Given the description of an element on the screen output the (x, y) to click on. 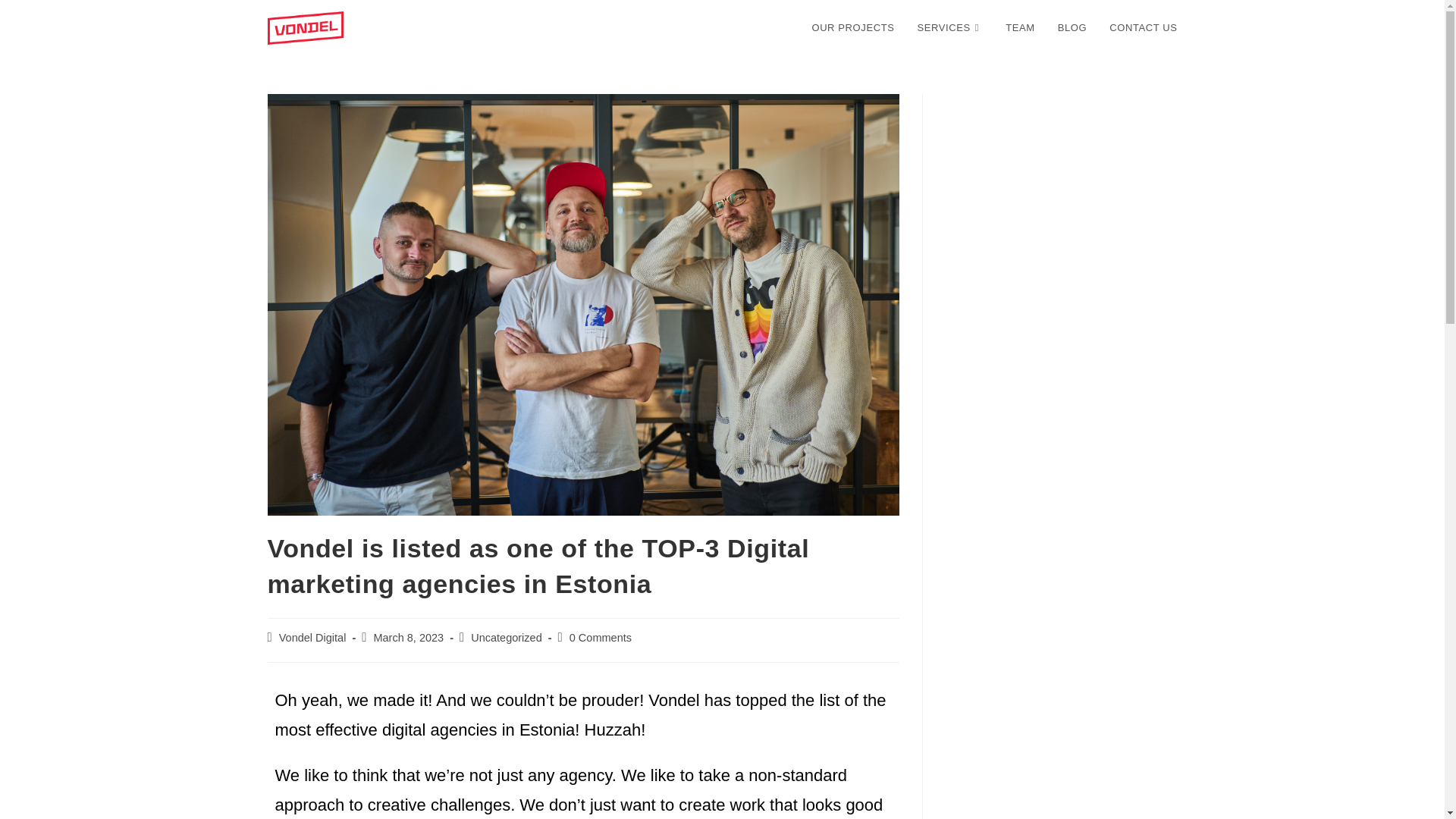
SERVICES (949, 28)
Uncategorized (505, 637)
0 Comments (600, 637)
Vondel Digital (312, 637)
CONTACT US (1142, 28)
BLOG (1072, 28)
Posts by Vondel Digital (312, 637)
TEAM (1020, 28)
OUR PROJECTS (852, 28)
